Given the description of an element on the screen output the (x, y) to click on. 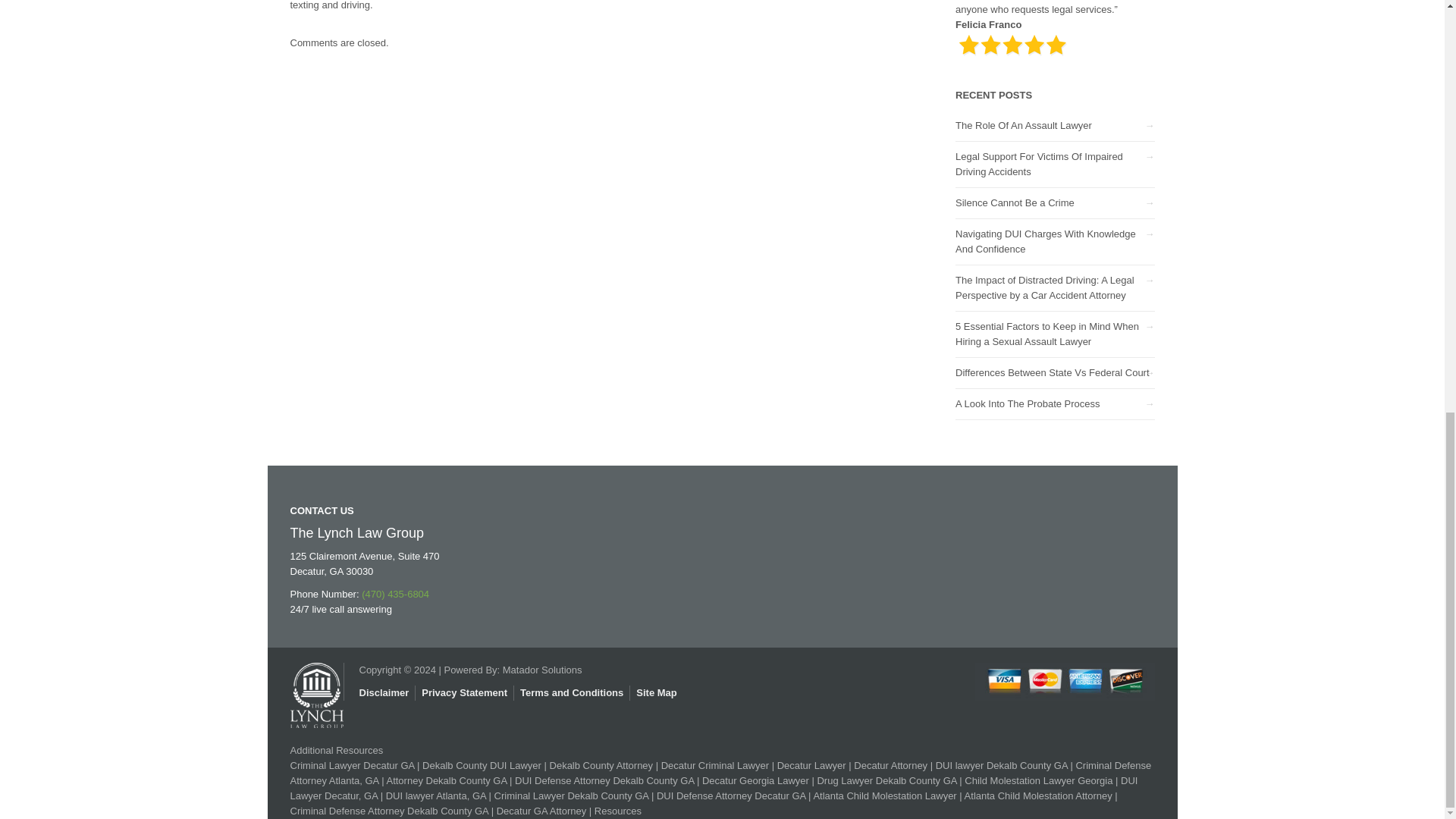
Differences Between State Vs Federal Court (1052, 372)
The Lynch Law Group (315, 687)
A Look Into The Probate Process (1027, 403)
The Role Of An Assault Lawyer (1023, 125)
Navigating DUI Charges With Knowledge And Confidence (1045, 241)
Silence Cannot Be a Crime (1014, 202)
Legal Support For Victims Of Impaired Driving Accidents (1038, 163)
